Given the description of an element on the screen output the (x, y) to click on. 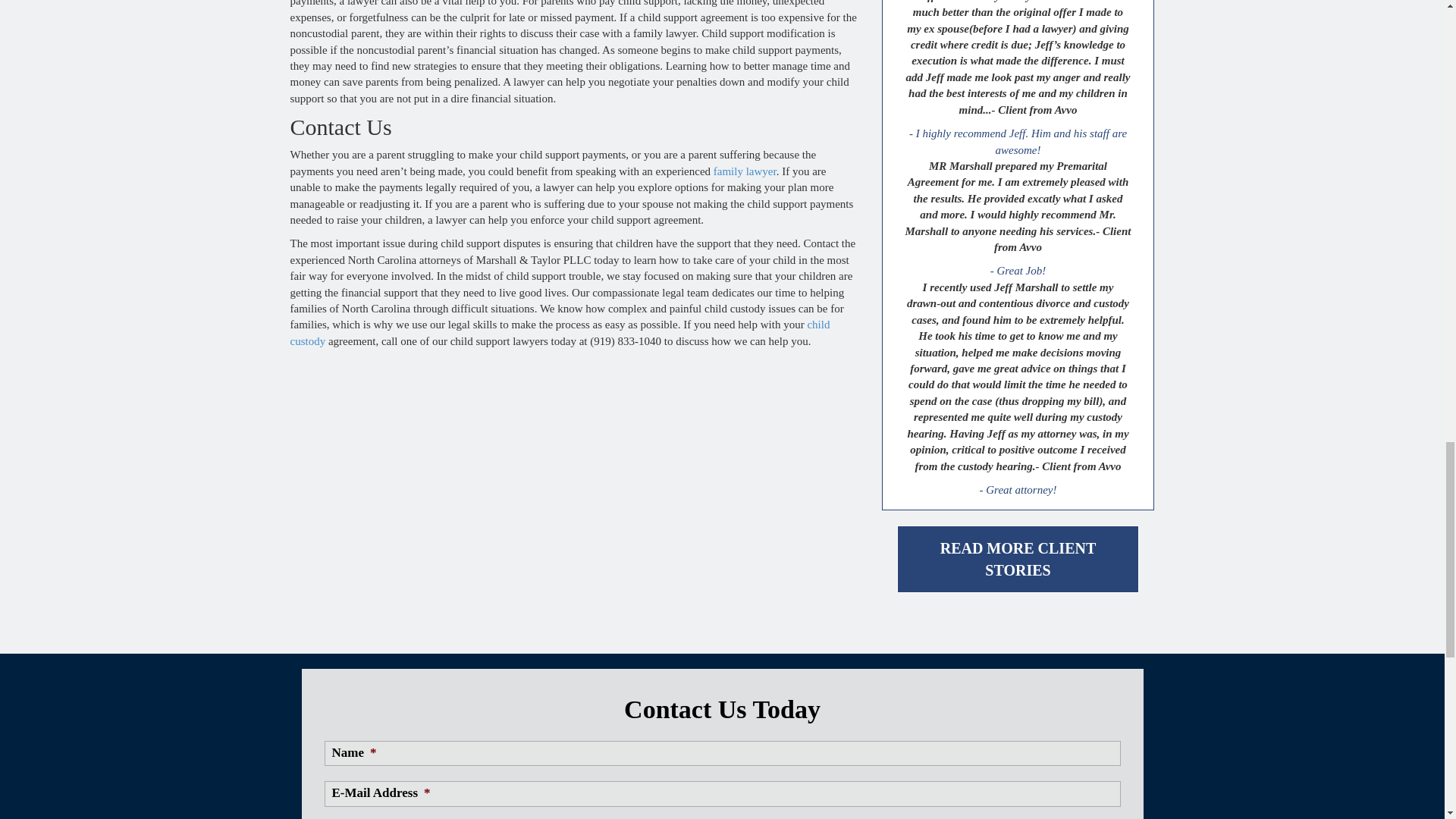
child custody (559, 332)
Child Custody (559, 332)
Home (744, 171)
family lawyer (744, 171)
READ MORE CLIENT STORIES (1017, 558)
